Given the description of an element on the screen output the (x, y) to click on. 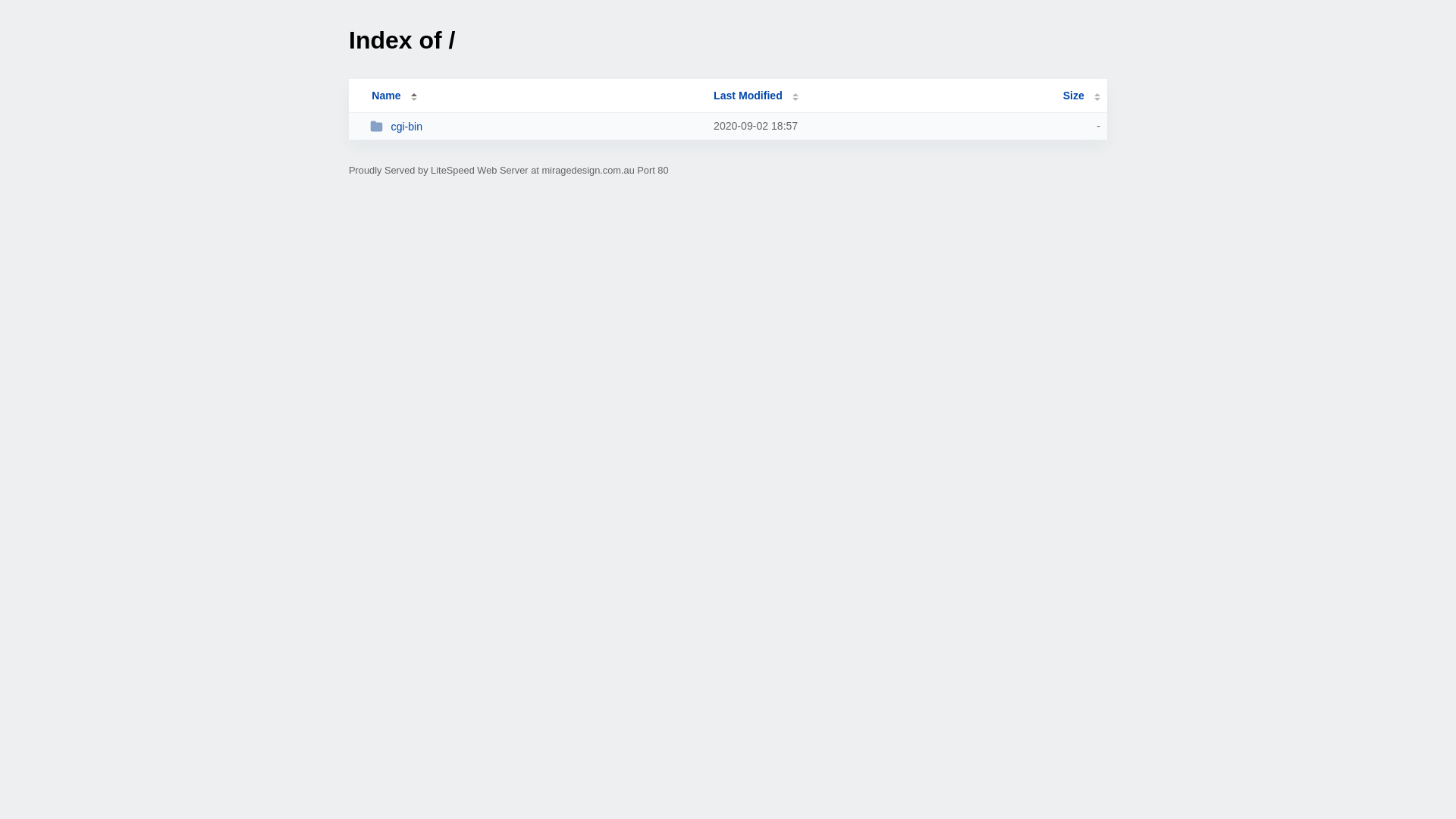
Size Element type: text (1081, 95)
Last Modified Element type: text (755, 95)
cgi-bin Element type: text (534, 125)
Name Element type: text (385, 95)
